Given the description of an element on the screen output the (x, y) to click on. 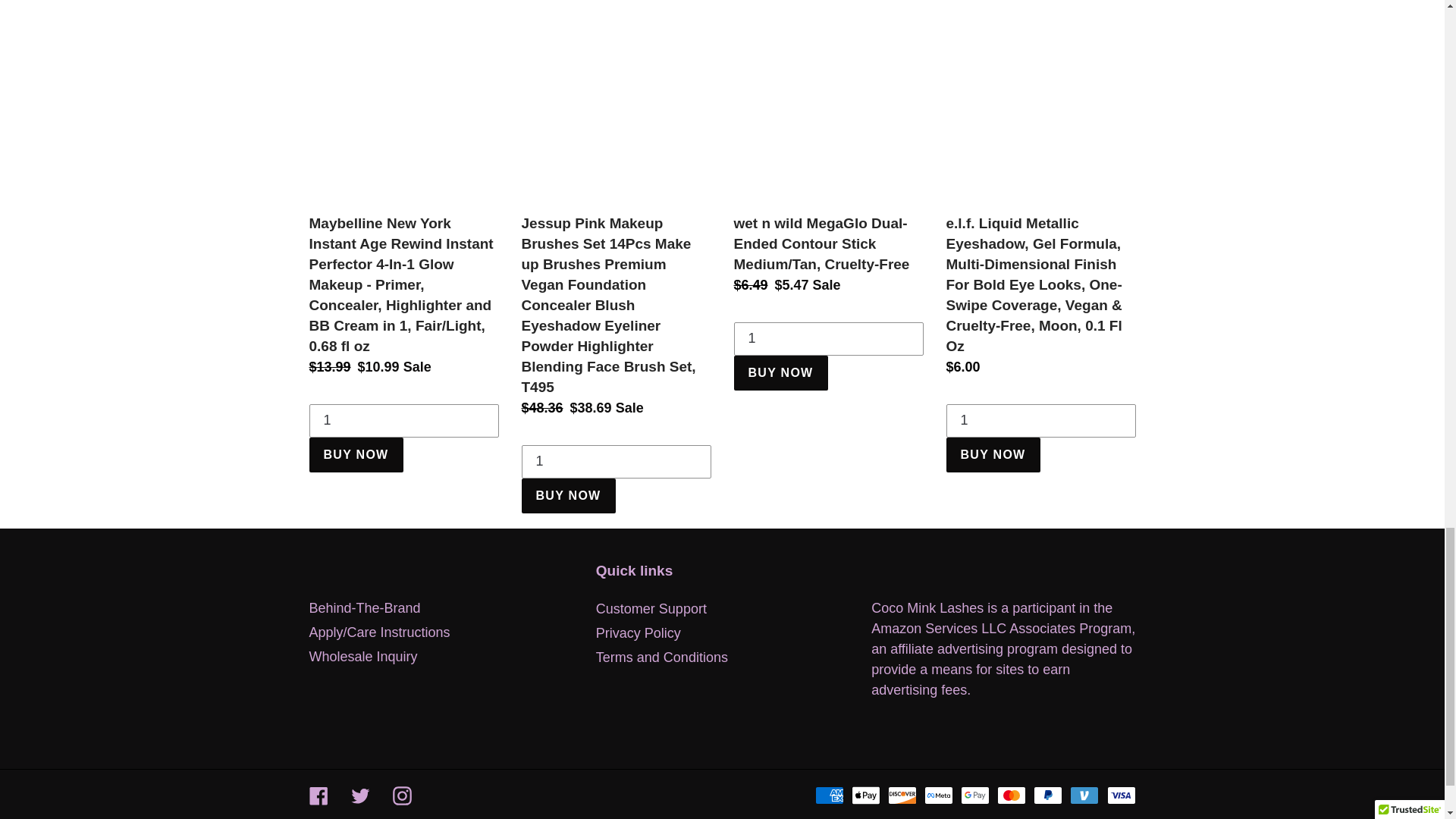
1 (403, 420)
1 (1040, 420)
1 (616, 461)
1 (828, 338)
